Given the description of an element on the screen output the (x, y) to click on. 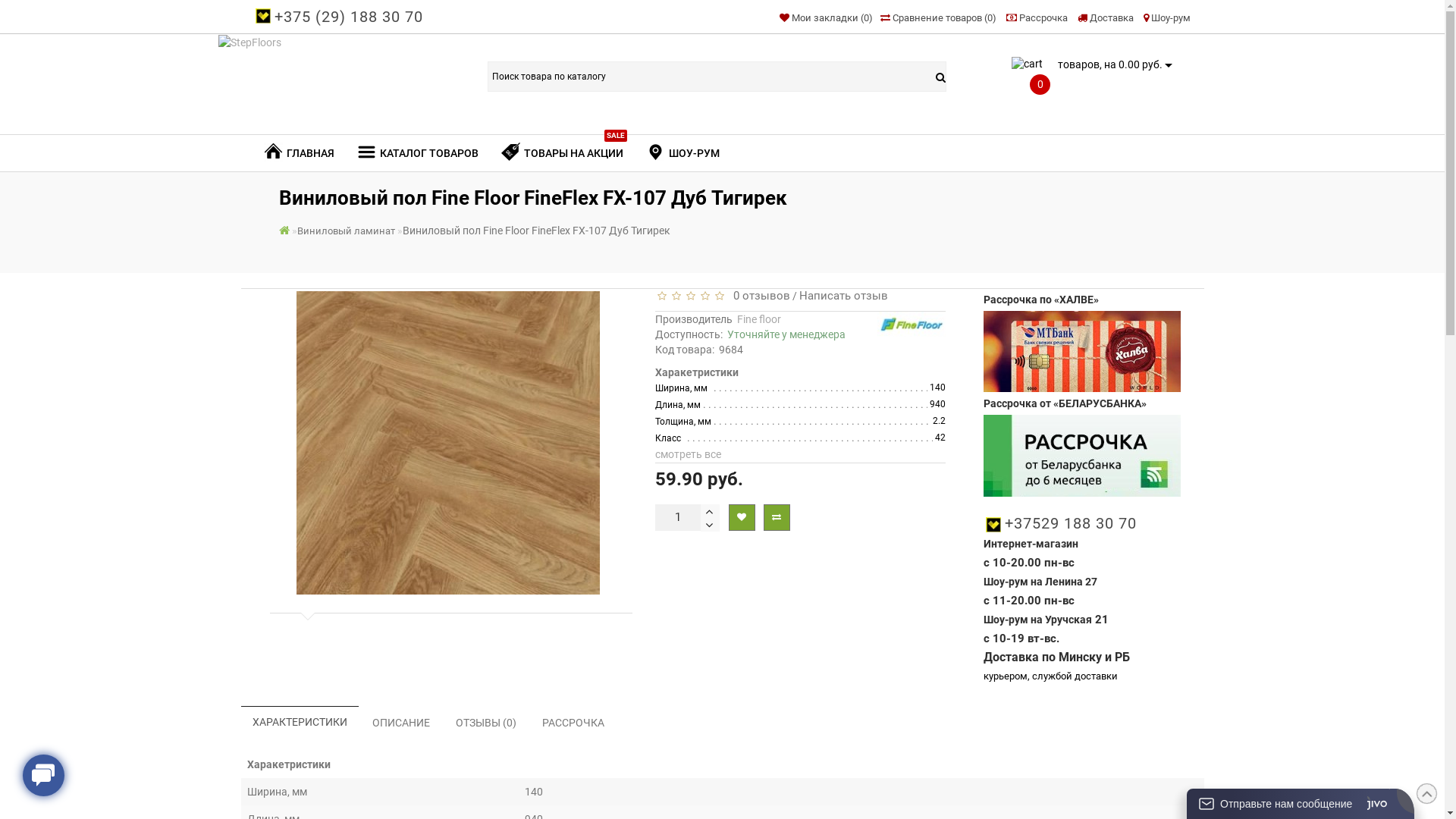
Fine floor Element type: text (759, 319)
cart Element type: hover (1026, 63)
+37529 188 30 70 Element type: text (1070, 523)
Fine floor Element type: hover (911, 323)
StepFloors Element type: hover (330, 72)
  Element type: text (709, 510)
  Element type: text (709, 524)
